Given the description of an element on the screen output the (x, y) to click on. 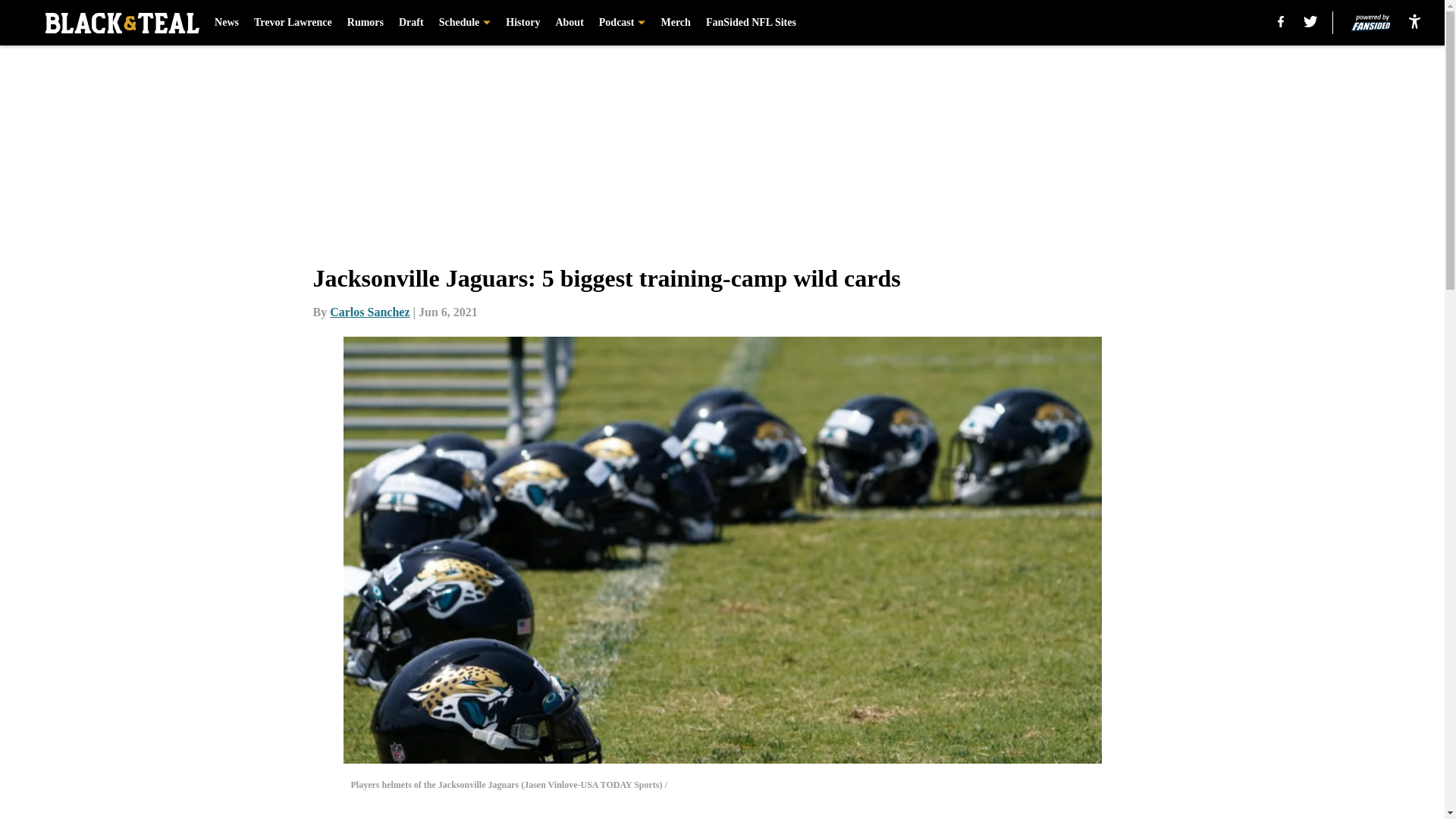
News (226, 22)
Draft (410, 22)
About (568, 22)
FanSided NFL Sites (751, 22)
Merch (675, 22)
Trevor Lawrence (292, 22)
Carlos Sanchez (369, 311)
History (522, 22)
Rumors (365, 22)
